Given the description of an element on the screen output the (x, y) to click on. 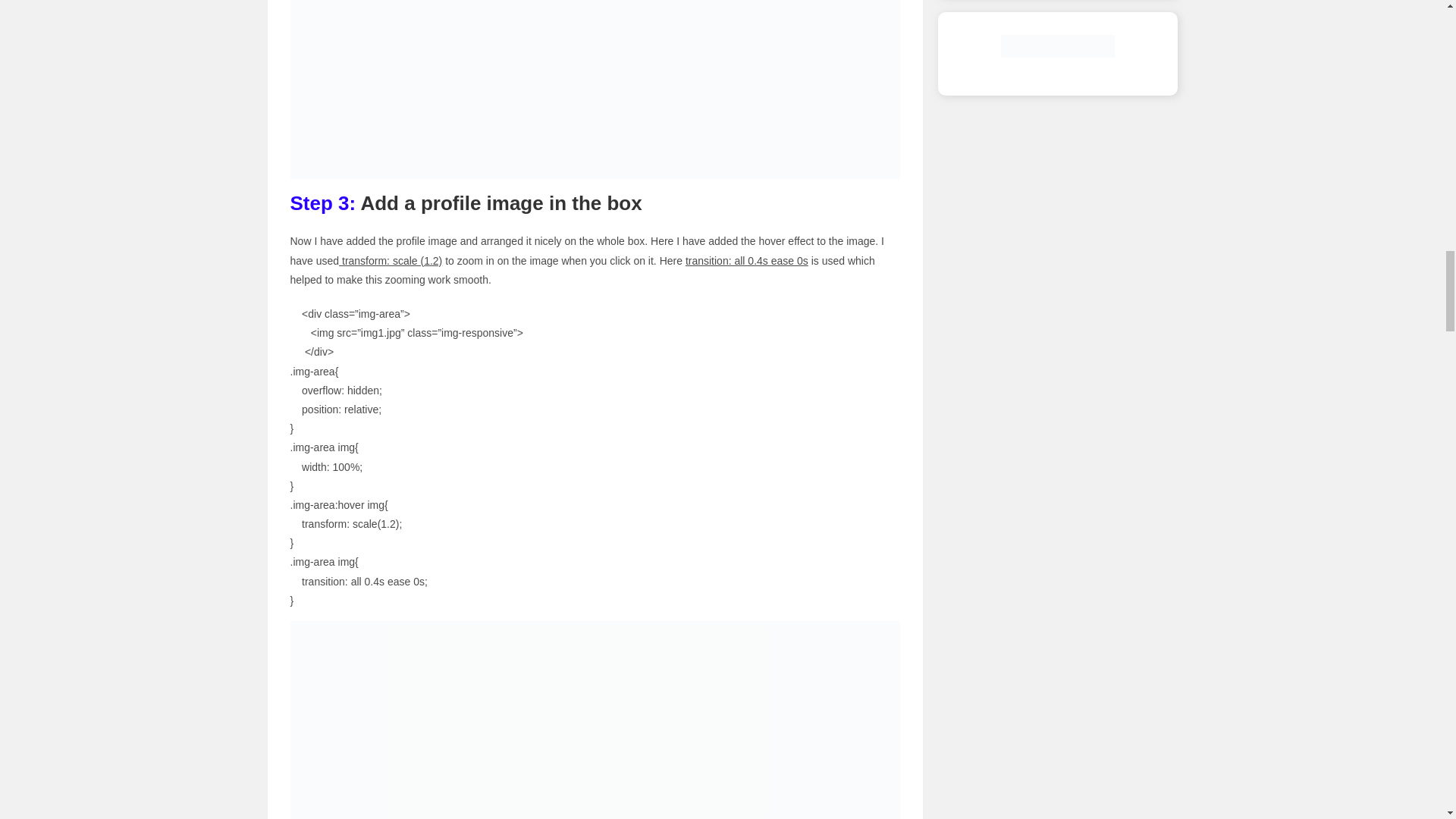
Add a profile image in the box (594, 719)
Make a box in the first column (594, 89)
